Given the description of an element on the screen output the (x, y) to click on. 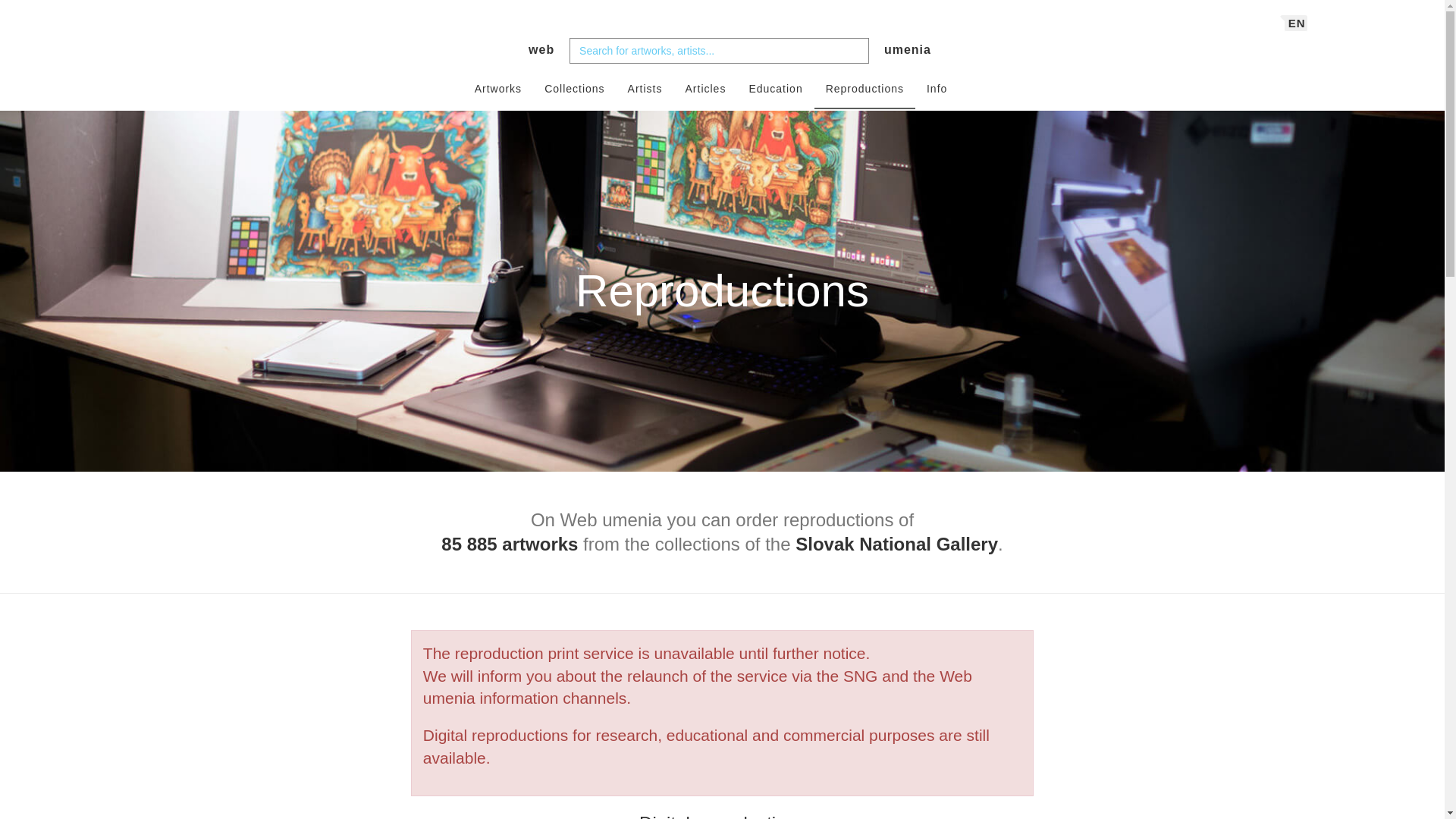
Artists (644, 88)
web (535, 49)
Artworks (497, 88)
Collections (573, 88)
umenia (907, 49)
Favourites (721, 50)
Articles (969, 81)
EN (704, 88)
Info (1295, 23)
